Given the description of an element on the screen output the (x, y) to click on. 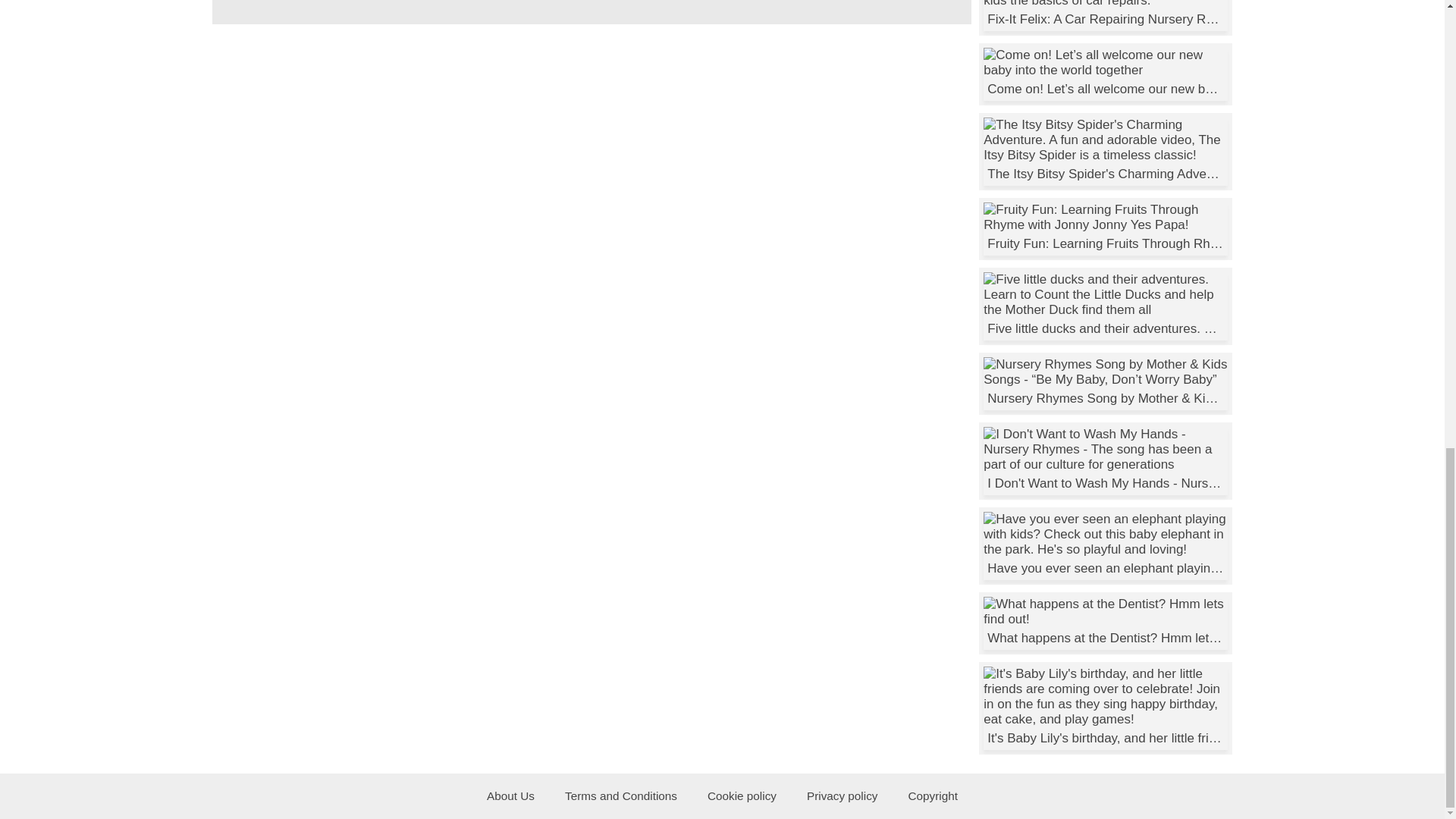
Cookie policy (742, 795)
Terms and Conditions (621, 795)
About Us (510, 795)
Privacy policy (842, 795)
